Given the description of an element on the screen output the (x, y) to click on. 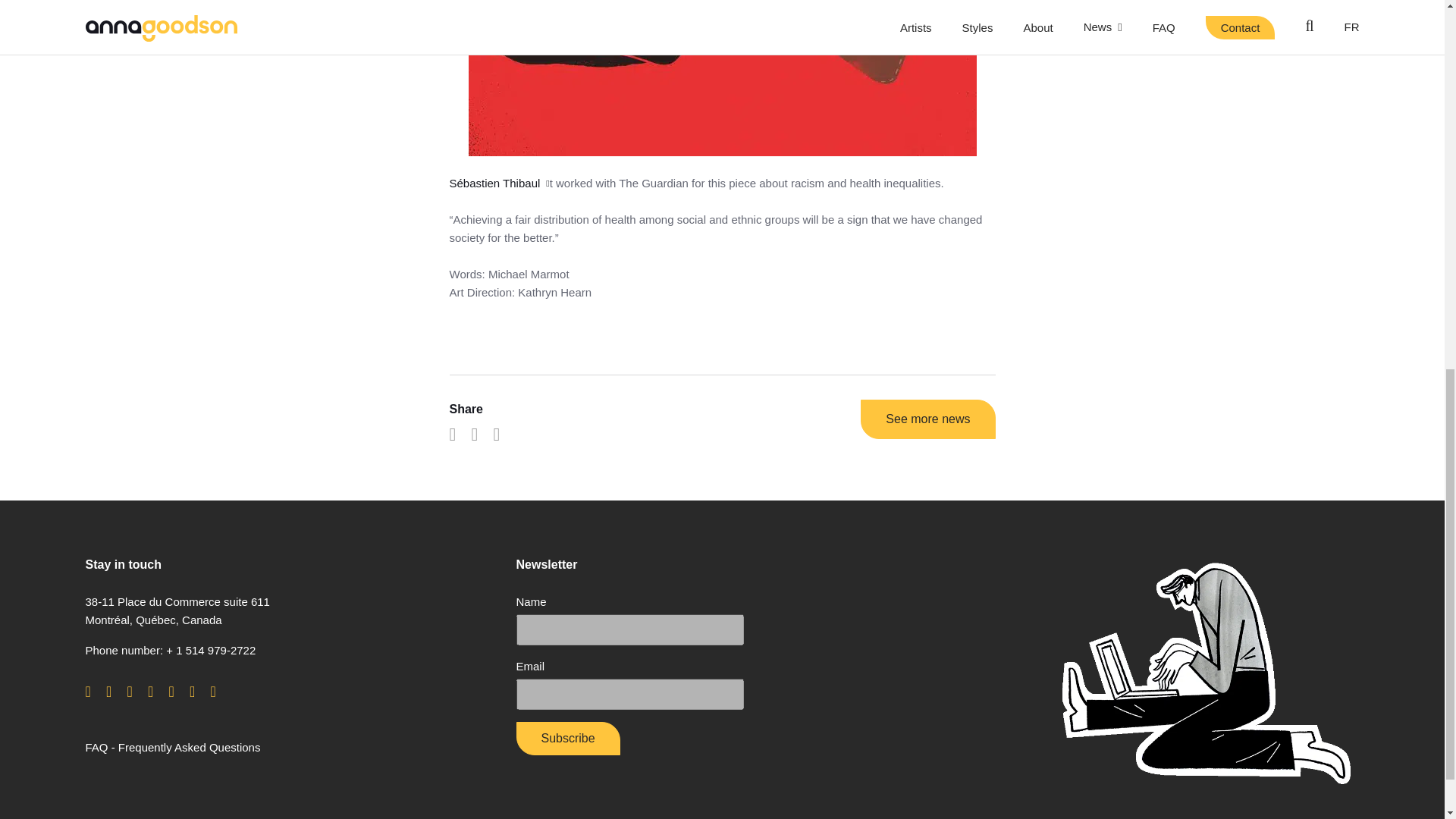
See more news (927, 418)
Subscribe (567, 738)
